Given the description of an element on the screen output the (x, y) to click on. 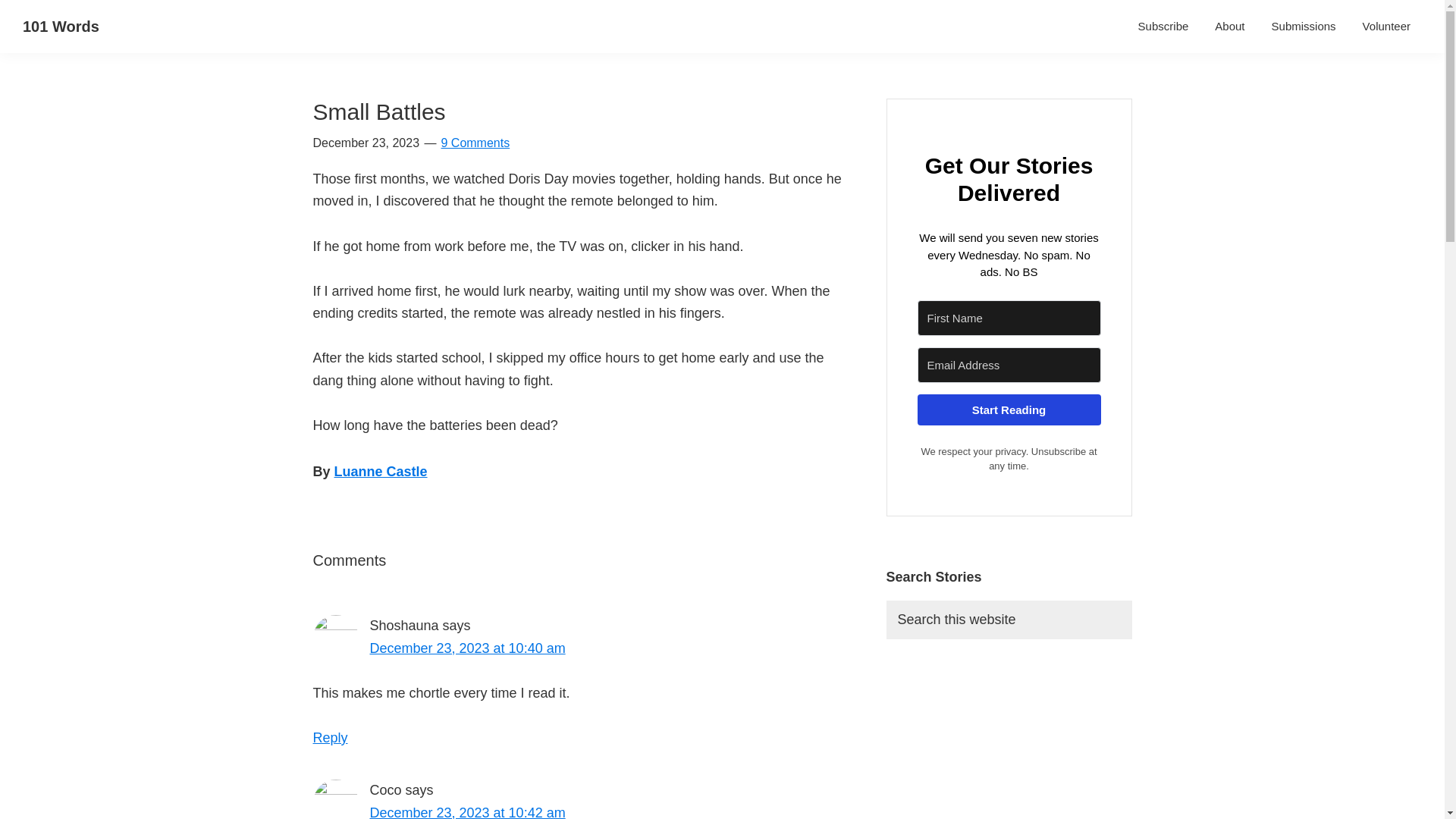
December 23, 2023 at 10:42 am (467, 812)
December 23, 2023 at 10:40 am (467, 647)
9 Comments (475, 142)
Start Reading (1008, 409)
Luanne Castle (381, 471)
Subscribe (1162, 25)
Reply (330, 737)
Submissions (1304, 25)
About (1229, 25)
Subscribe (1162, 25)
Volunteer (1386, 25)
